Given the description of an element on the screen output the (x, y) to click on. 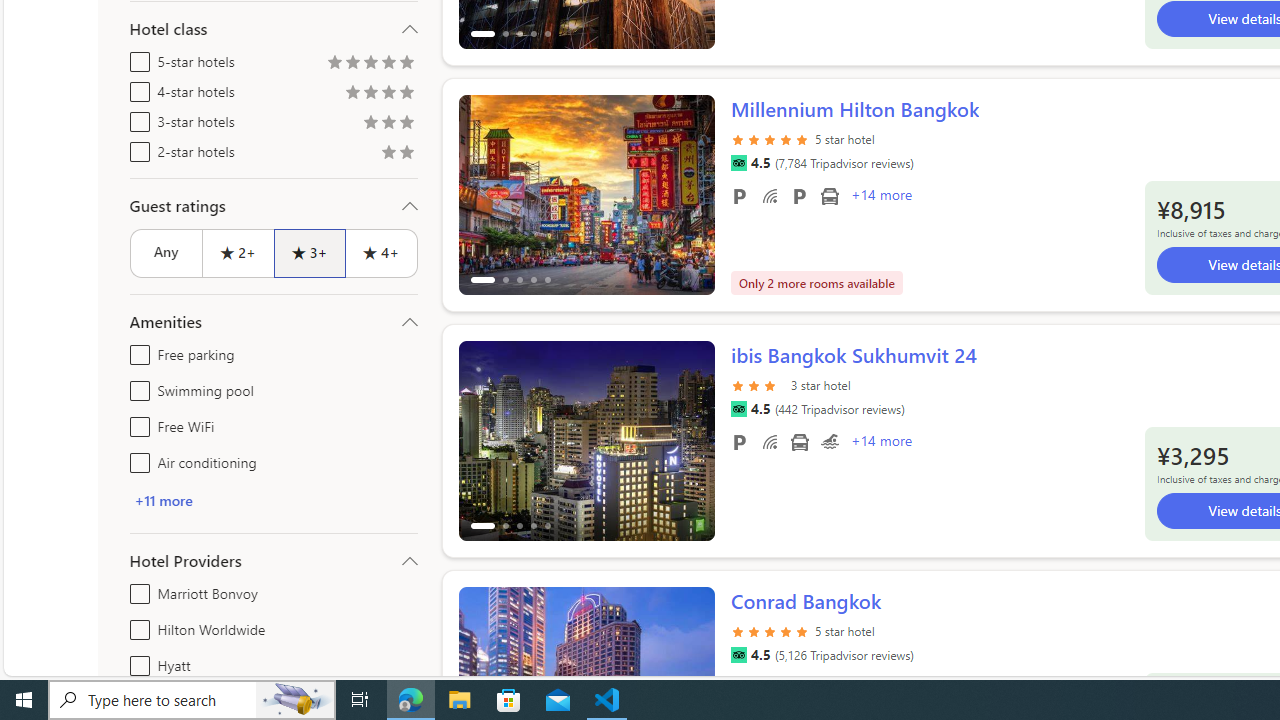
Any (165, 252)
+11 more (273, 500)
